Given the description of an element on the screen output the (x, y) to click on. 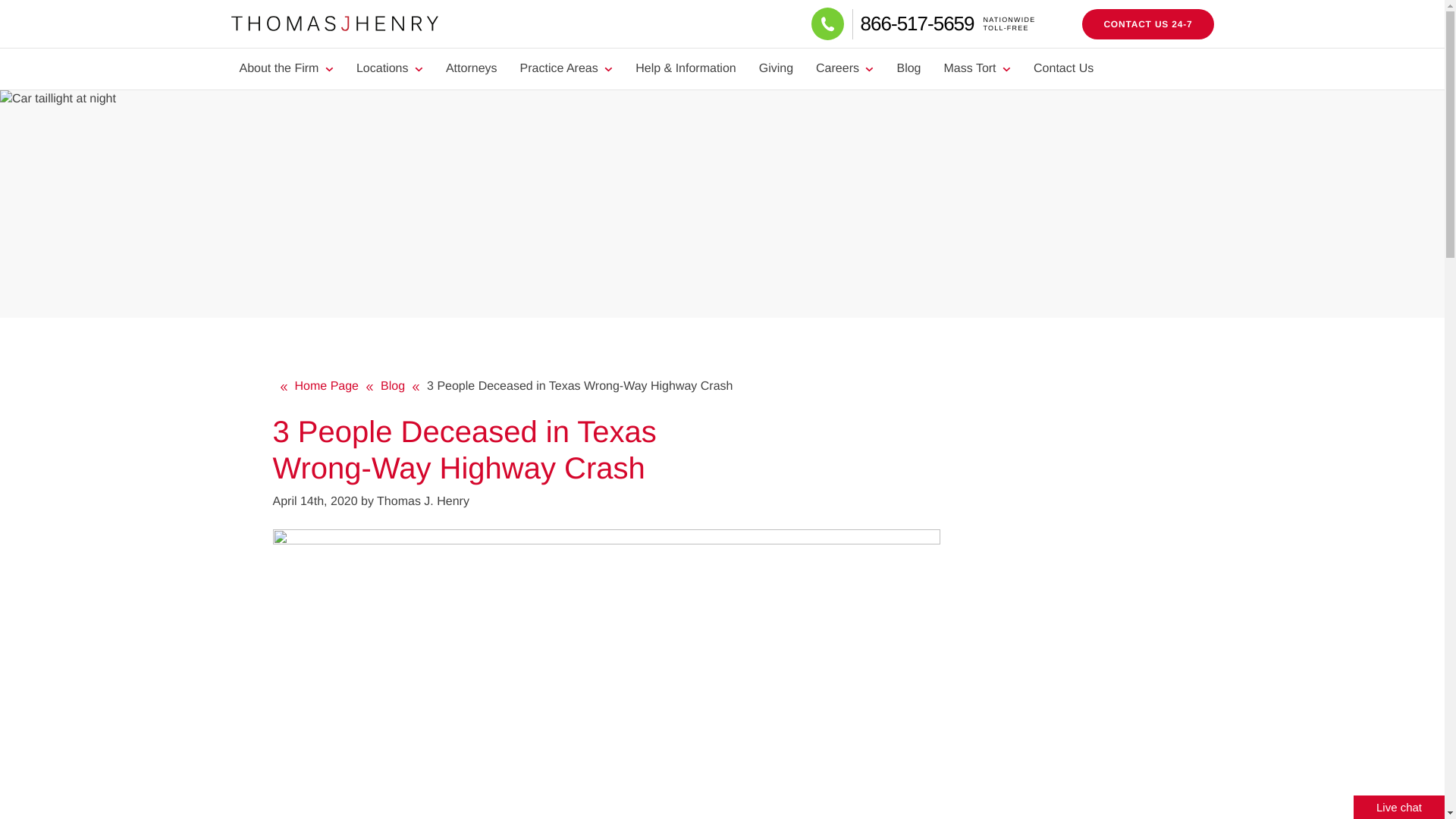
About the Firm (285, 68)
Practice Areas (566, 68)
Attorneys (470, 68)
CONTACT US 24-7 (1146, 24)
CONTACT US 24-7 (1146, 24)
Giving (776, 68)
Locations (389, 68)
Careers (946, 23)
